Given the description of an element on the screen output the (x, y) to click on. 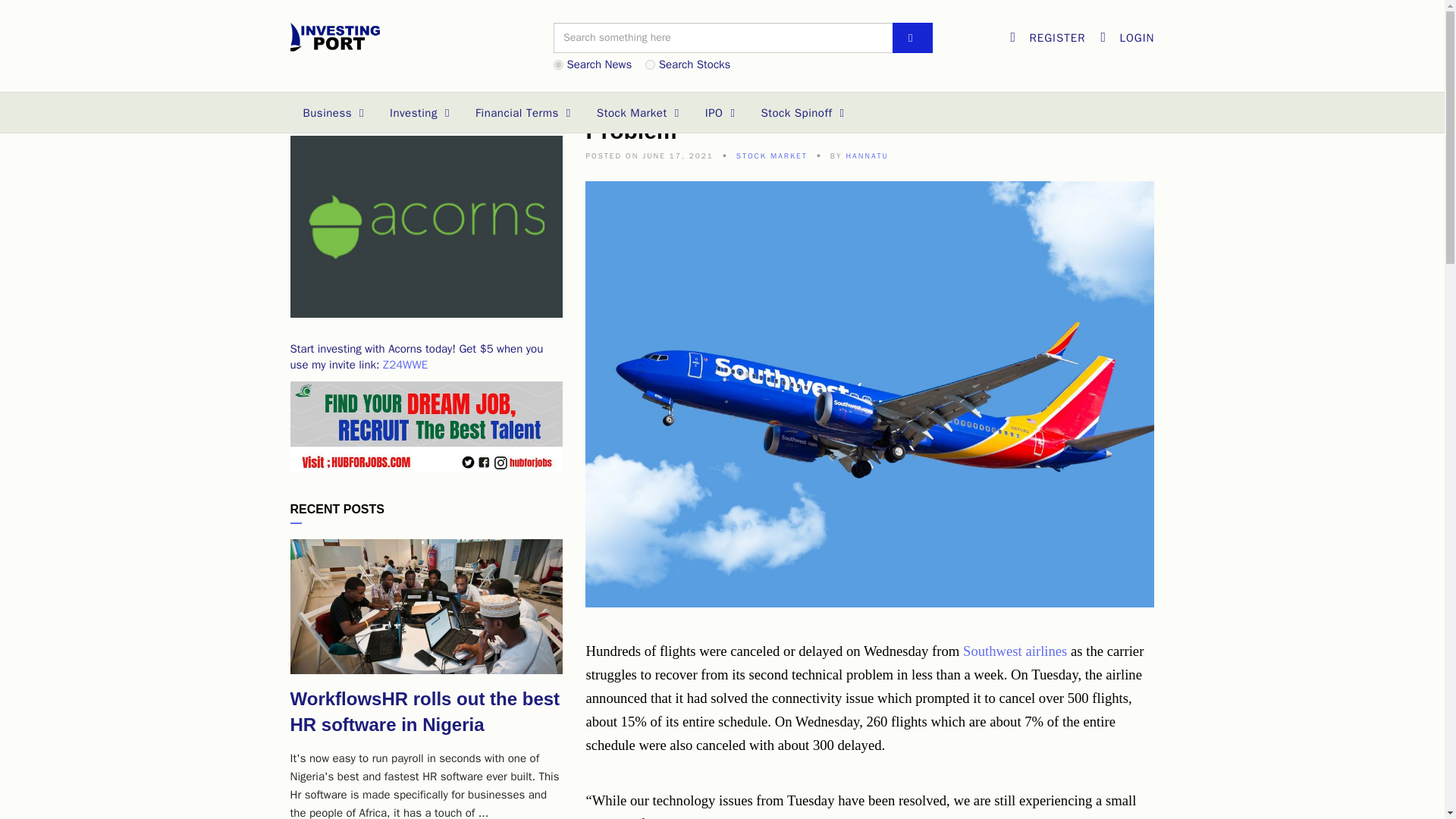
LOGIN (1127, 37)
on (650, 64)
Business (333, 112)
on (558, 64)
REGISTER (1047, 37)
Investing (420, 112)
